Given the description of an element on the screen output the (x, y) to click on. 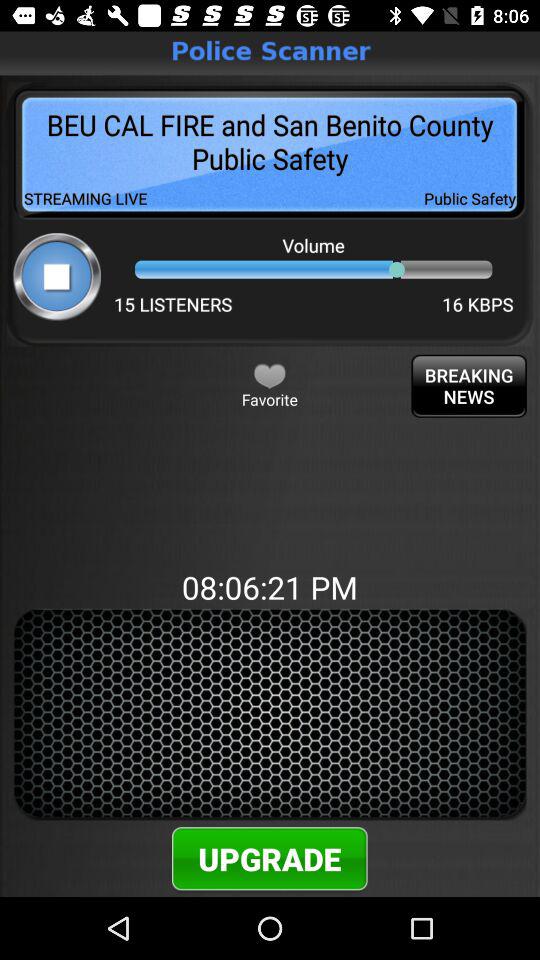
toggle favorite (269, 375)
